Given the description of an element on the screen output the (x, y) to click on. 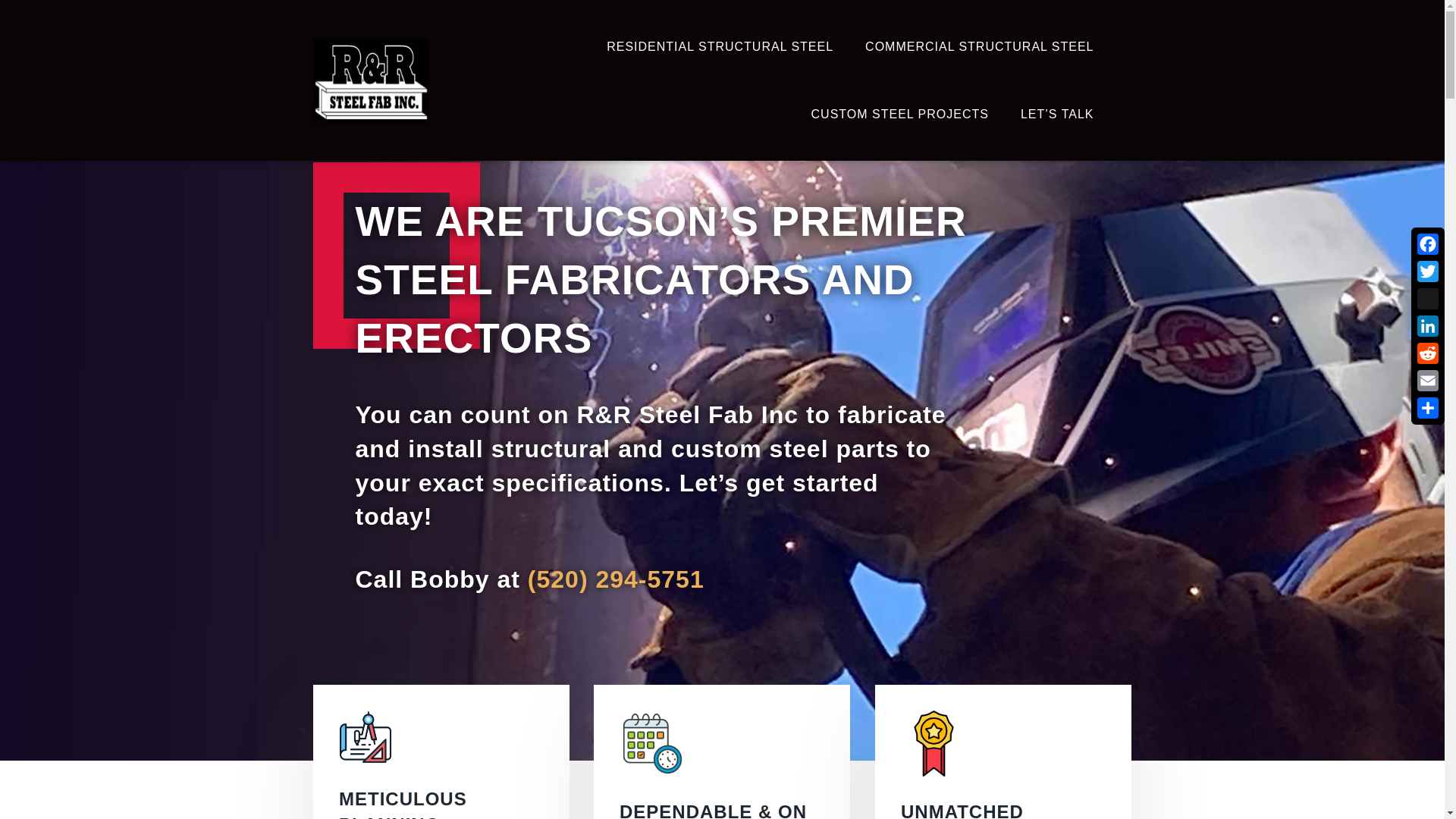
CUSTOM STEEL PROJECTS (899, 114)
RESIDENTIAL STRUCTURAL STEEL (719, 46)
COMMERCIAL STRUCTURAL STEEL (978, 46)
